Given the description of an element on the screen output the (x, y) to click on. 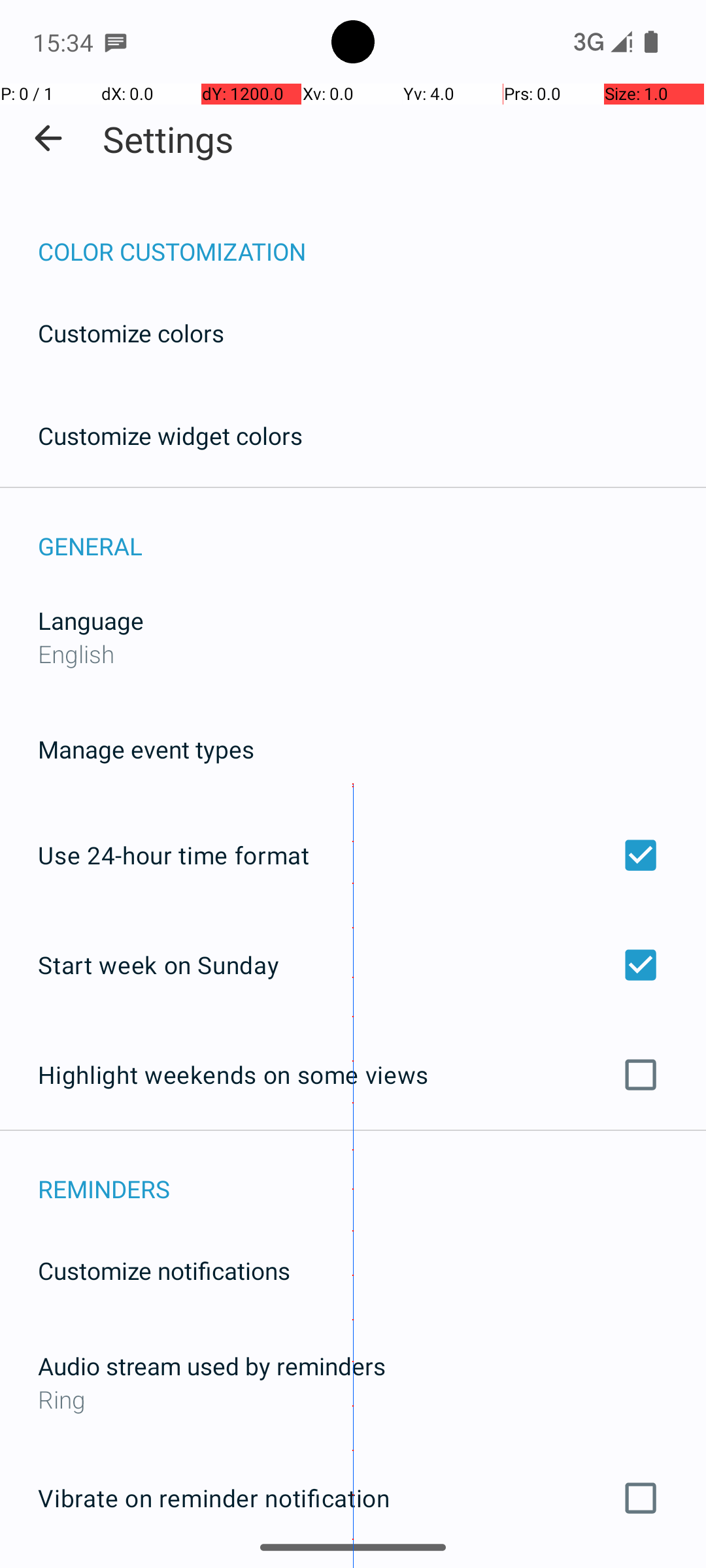
COLOR CUSTOMIZATION Element type: android.widget.TextView (371, 237)
GENERAL Element type: android.widget.TextView (371, 532)
REMINDERS Element type: android.widget.TextView (371, 1174)
Customize colors Element type: android.widget.TextView (130, 332)
Customize widget colors Element type: android.widget.TextView (170, 435)
Language Element type: android.widget.TextView (90, 620)
English Element type: android.widget.TextView (75, 653)
Manage event types Element type: android.widget.TextView (145, 748)
Use 24-hour time format Element type: android.widget.CheckBox (352, 855)
Start week on Sunday Element type: android.widget.CheckBox (352, 964)
Highlight weekends on some views Element type: android.widget.CheckBox (352, 1074)
Customize notifications Element type: android.widget.TextView (163, 1270)
Audio stream used by reminders Element type: android.widget.TextView (211, 1365)
Ring Element type: android.widget.TextView (352, 1398)
Vibrate on reminder notification Element type: android.widget.CheckBox (352, 1497)
Loop reminders until dismissed Element type: android.widget.CheckBox (352, 1567)
